Given the description of an element on the screen output the (x, y) to click on. 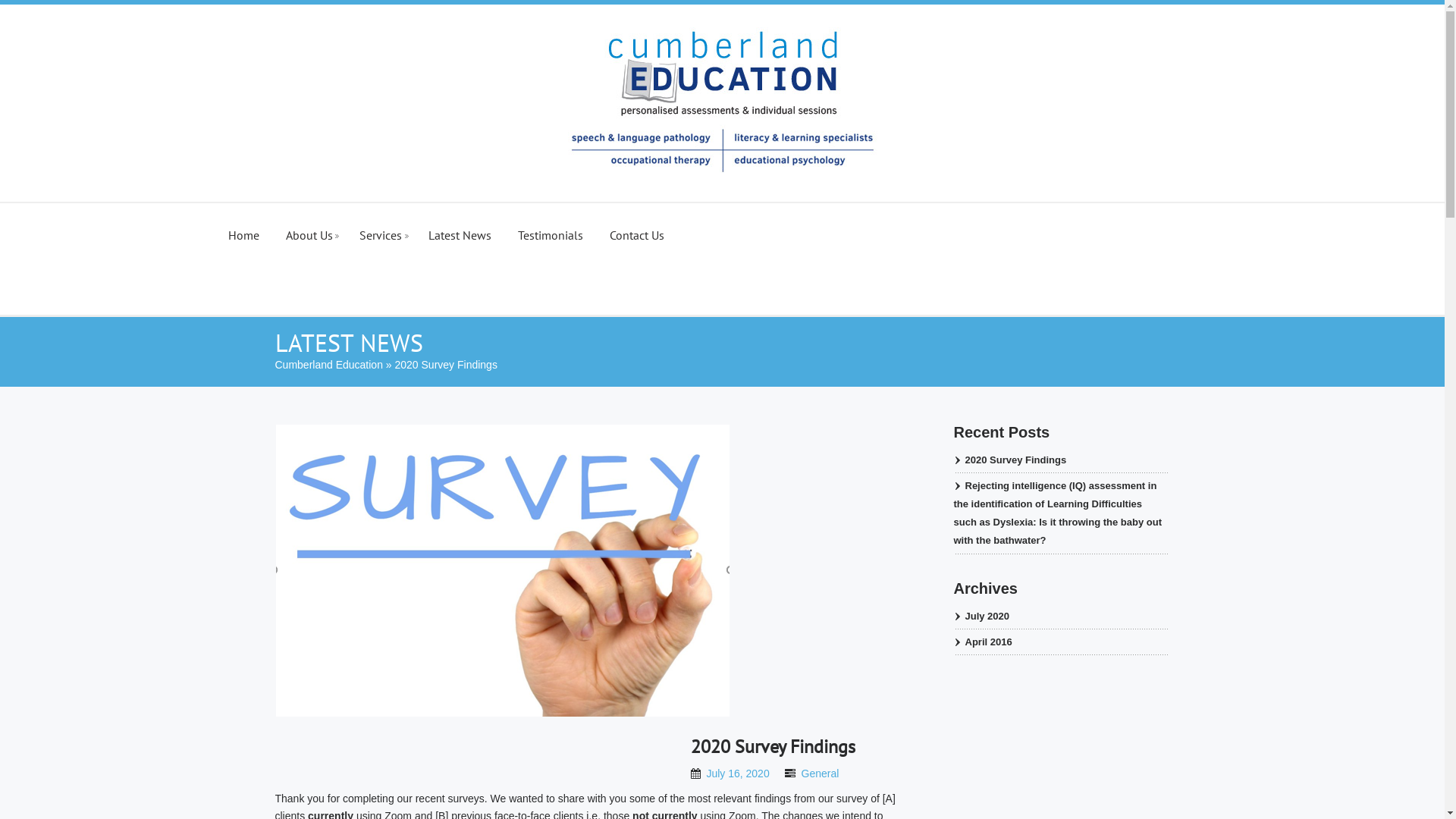
July 2020 Element type: text (981, 615)
General Element type: text (820, 773)
Services Element type: text (380, 223)
Latest News Element type: text (459, 223)
April 2016 Element type: text (982, 641)
2020 Survey Findings Element type: text (1009, 459)
2020 Survey Findings Element type: text (772, 746)
Testimonials Element type: text (550, 223)
July 16, 2020 Element type: text (737, 773)
Cumberland Education Element type: text (328, 364)
About Us Element type: text (308, 223)
Home Element type: text (243, 223)
Contact Us Element type: text (636, 223)
